Given the description of an element on the screen output the (x, y) to click on. 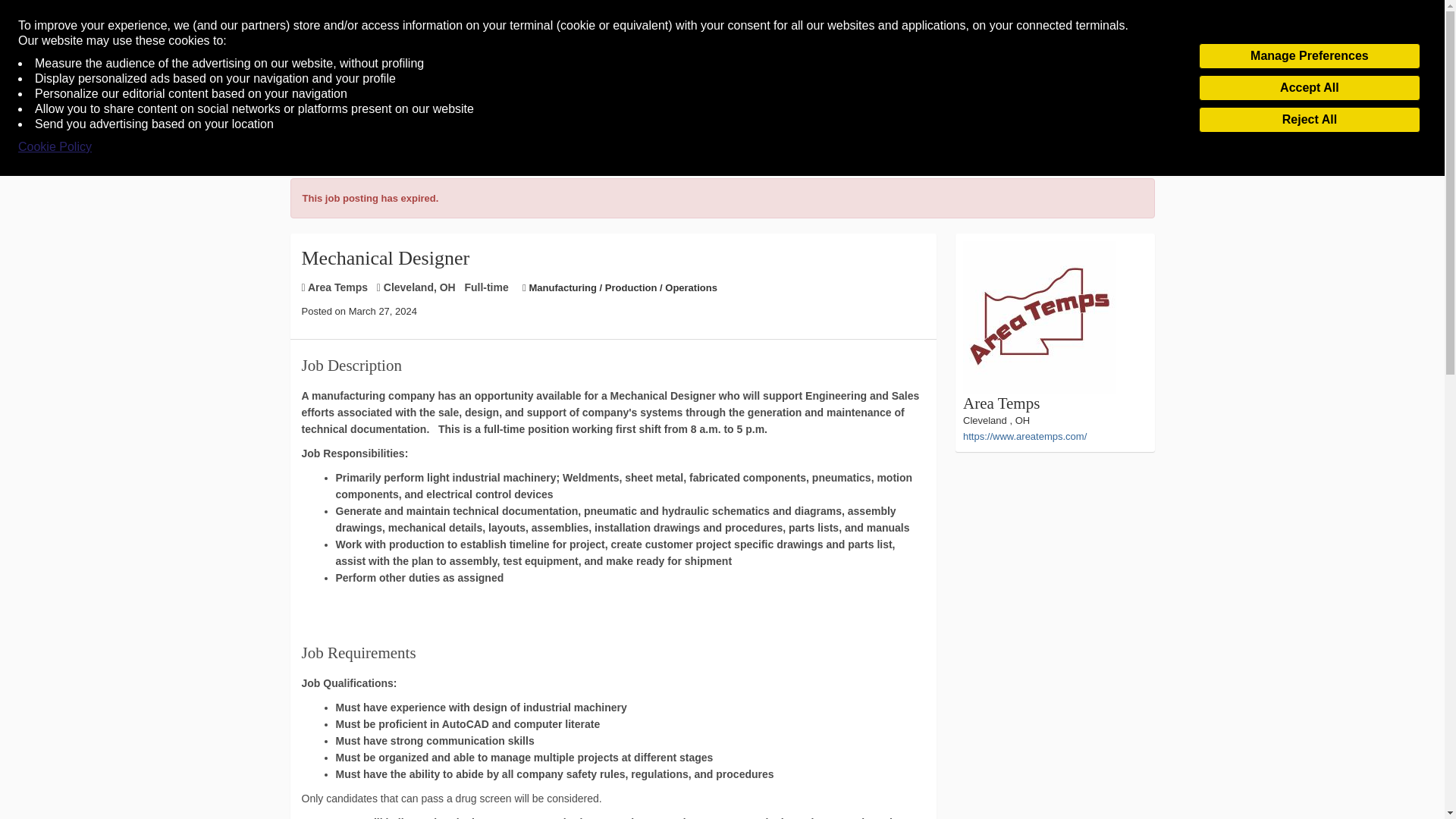
Accept All (1309, 87)
Menu (40, 89)
Cleveland.com (720, 87)
Reject All (1309, 119)
Manage Preferences (1309, 55)
Cleveland.com (720, 87)
Cookie Policy (54, 146)
